Given the description of an element on the screen output the (x, y) to click on. 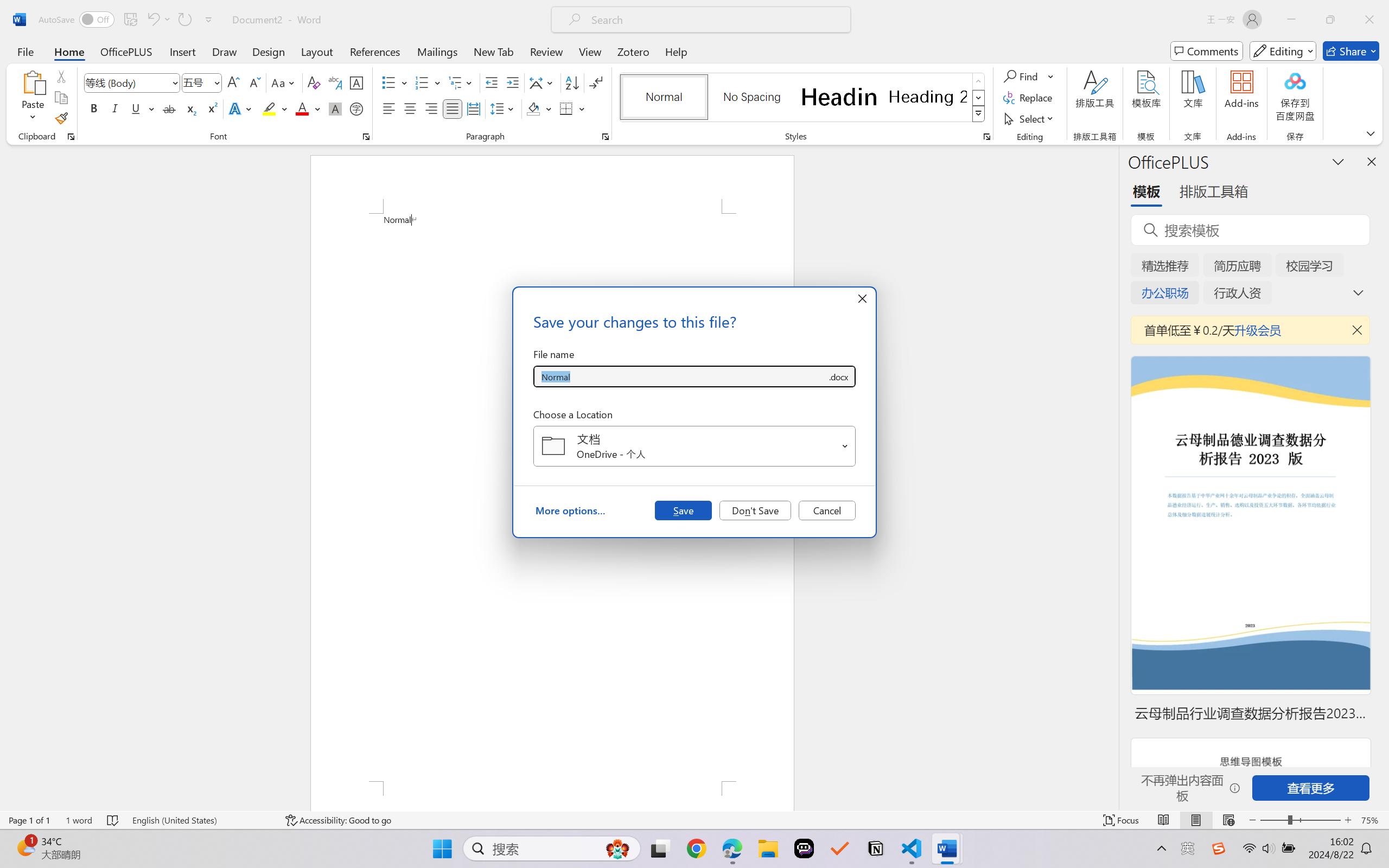
Cut (60, 75)
Shading (539, 108)
Heading 2 (927, 96)
Class: Image (1218, 847)
Language English (United States) (201, 819)
Comments (1206, 50)
Text Effects and Typography (241, 108)
Borders (571, 108)
Styles (978, 113)
Design (268, 51)
Format Painter (60, 118)
Select (1030, 118)
